Given the description of an element on the screen output the (x, y) to click on. 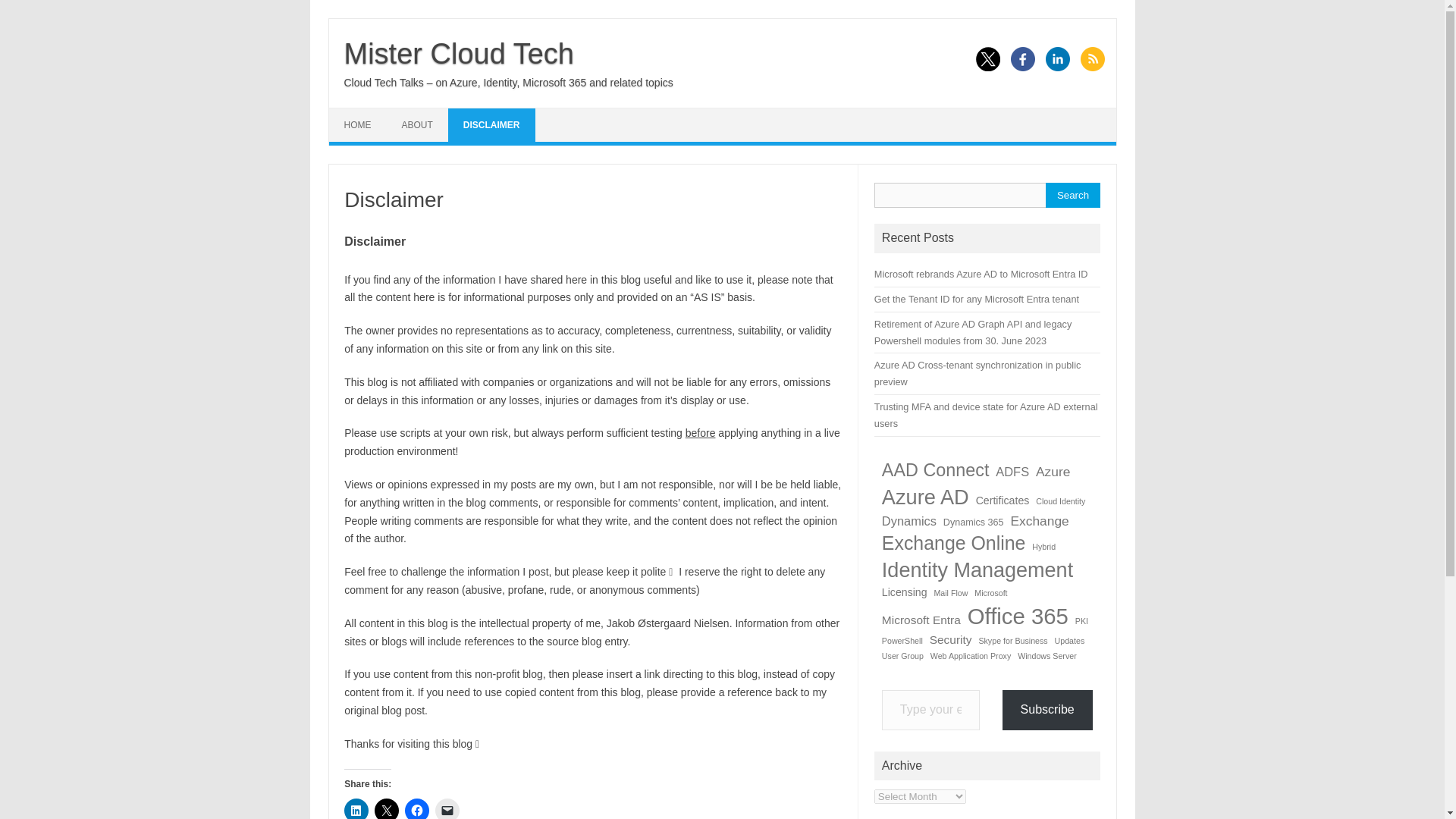
Mail Flow (950, 593)
Azure AD (925, 497)
Dynamics (909, 520)
Trusting MFA and device state for Azure AD external users (986, 415)
AAD Connect (936, 470)
Click to email a link to a friend (447, 808)
ABOUT (417, 124)
Identity Management (977, 570)
Mister Cloud Tech (458, 53)
Get the Tenant ID for any Microsoft Entra tenant (976, 298)
Microsoft (990, 593)
Search (1072, 195)
Click to share on X (386, 808)
